Given the description of an element on the screen output the (x, y) to click on. 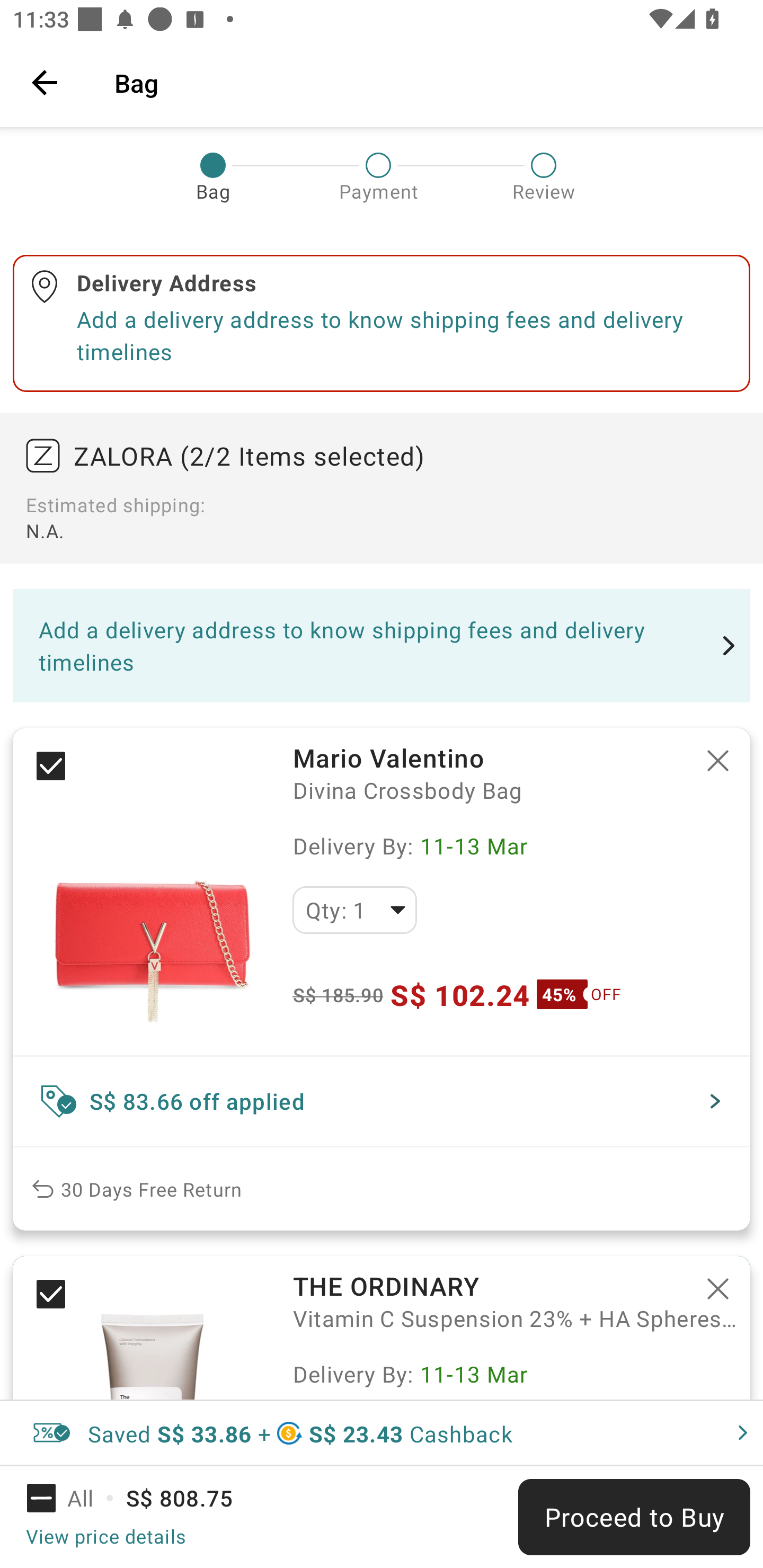
Navigate up (44, 82)
Bag (426, 82)
Qty: 1 (354, 909)
S$ 83.66 off applied (381, 1101)
Saved S$ 33.86 +   S$ 23.43 Cashback (381, 1432)
All (72, 1497)
Proceed to Buy (634, 1516)
View price details (105, 1535)
